Given the description of an element on the screen output the (x, y) to click on. 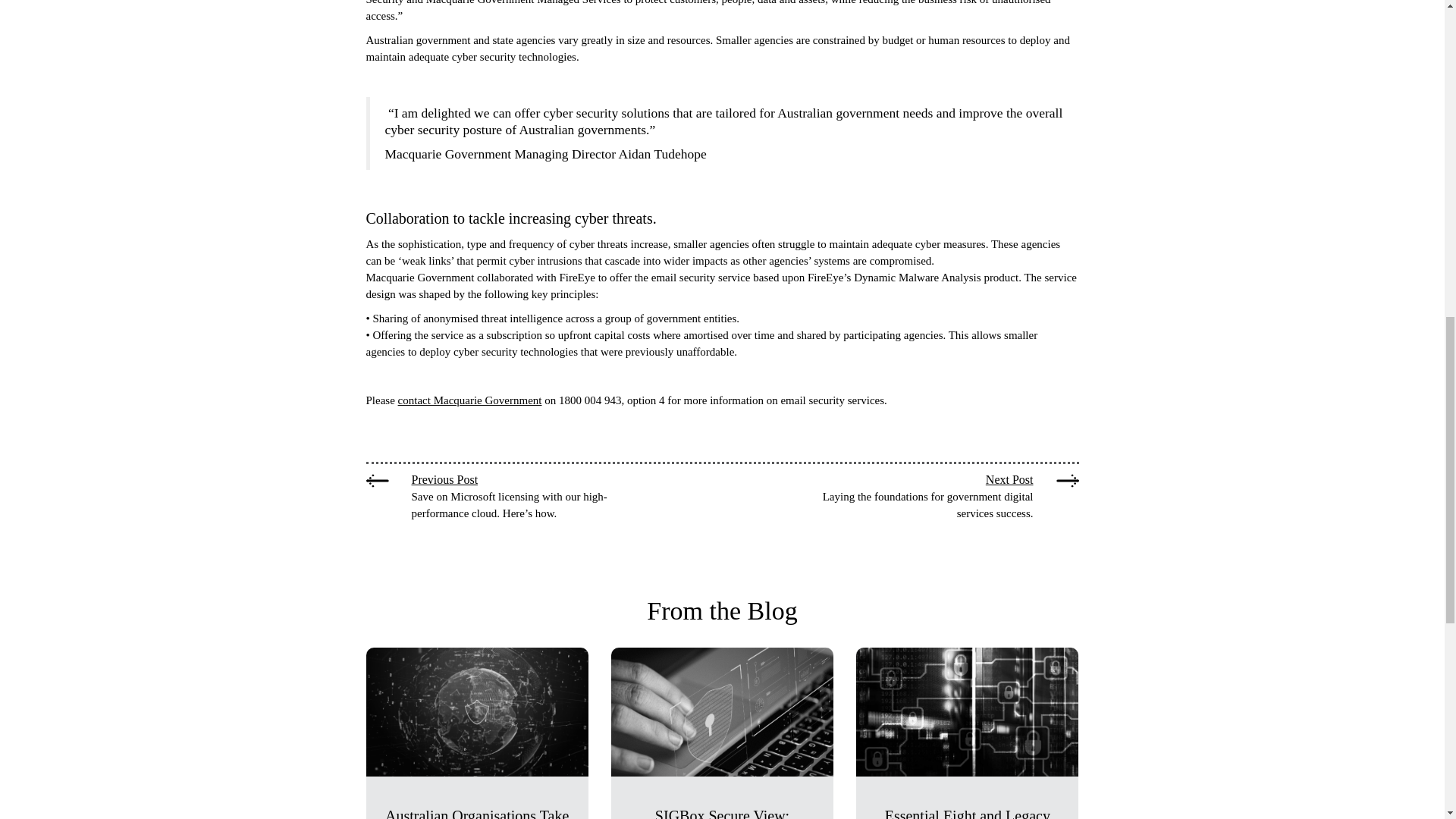
essential-8-legacy-systems-image (967, 711)
Countering LotL Cyber Threats Blog 2 (476, 711)
SIGBox 1 (721, 711)
